Given the description of an element on the screen output the (x, y) to click on. 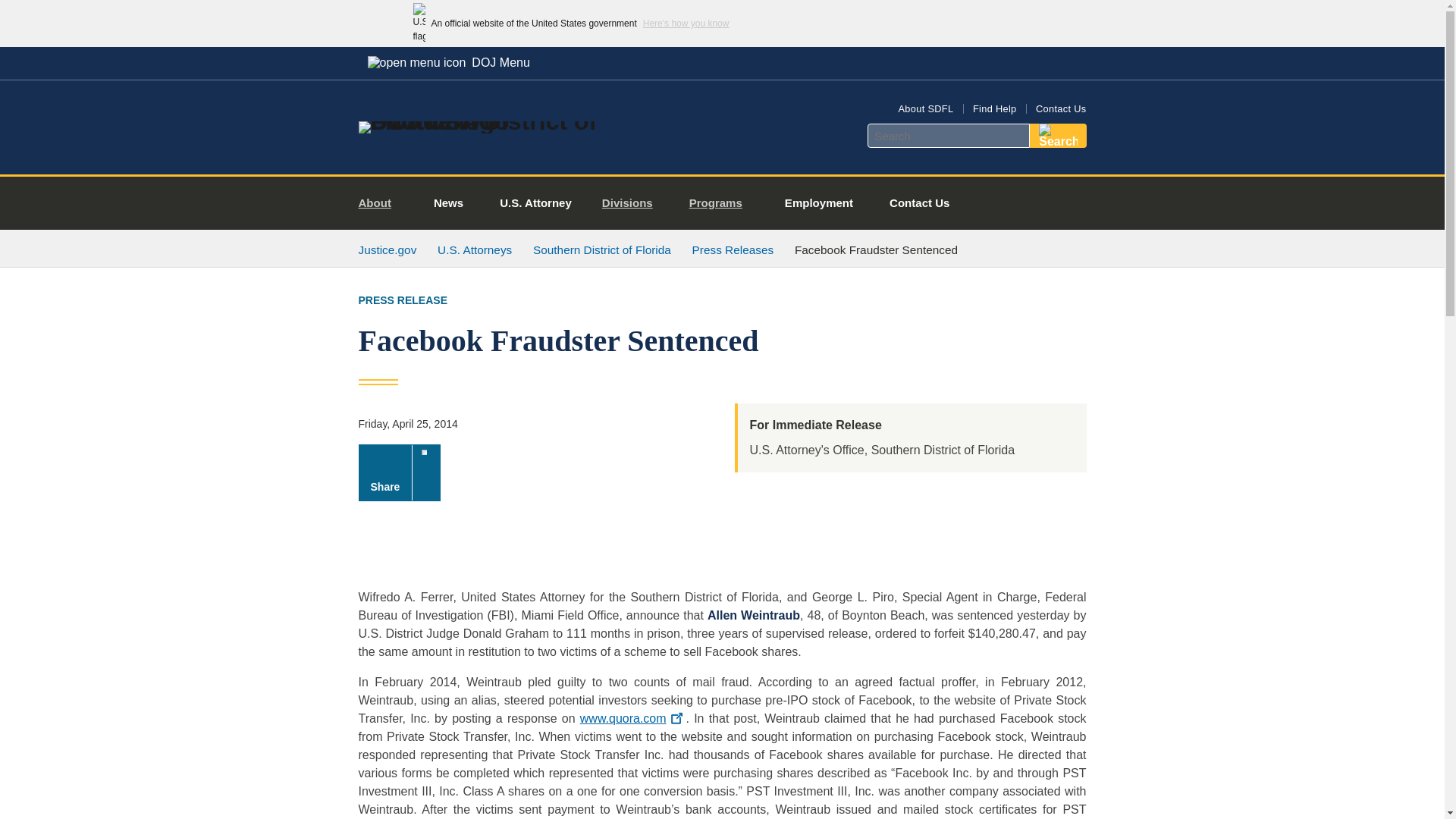
About SDFL (925, 108)
Contact Us (1060, 108)
Programs (722, 203)
Justice.gov (387, 249)
U.S. Attorneys (475, 249)
Contact Us (919, 203)
Here's how you know (686, 23)
Find Help (994, 108)
Press Releases (733, 249)
News (447, 203)
Share (398, 472)
Employment (818, 203)
DOJ Menu (448, 62)
Divisions (633, 203)
Southern District of Florida (601, 249)
